Given the description of an element on the screen output the (x, y) to click on. 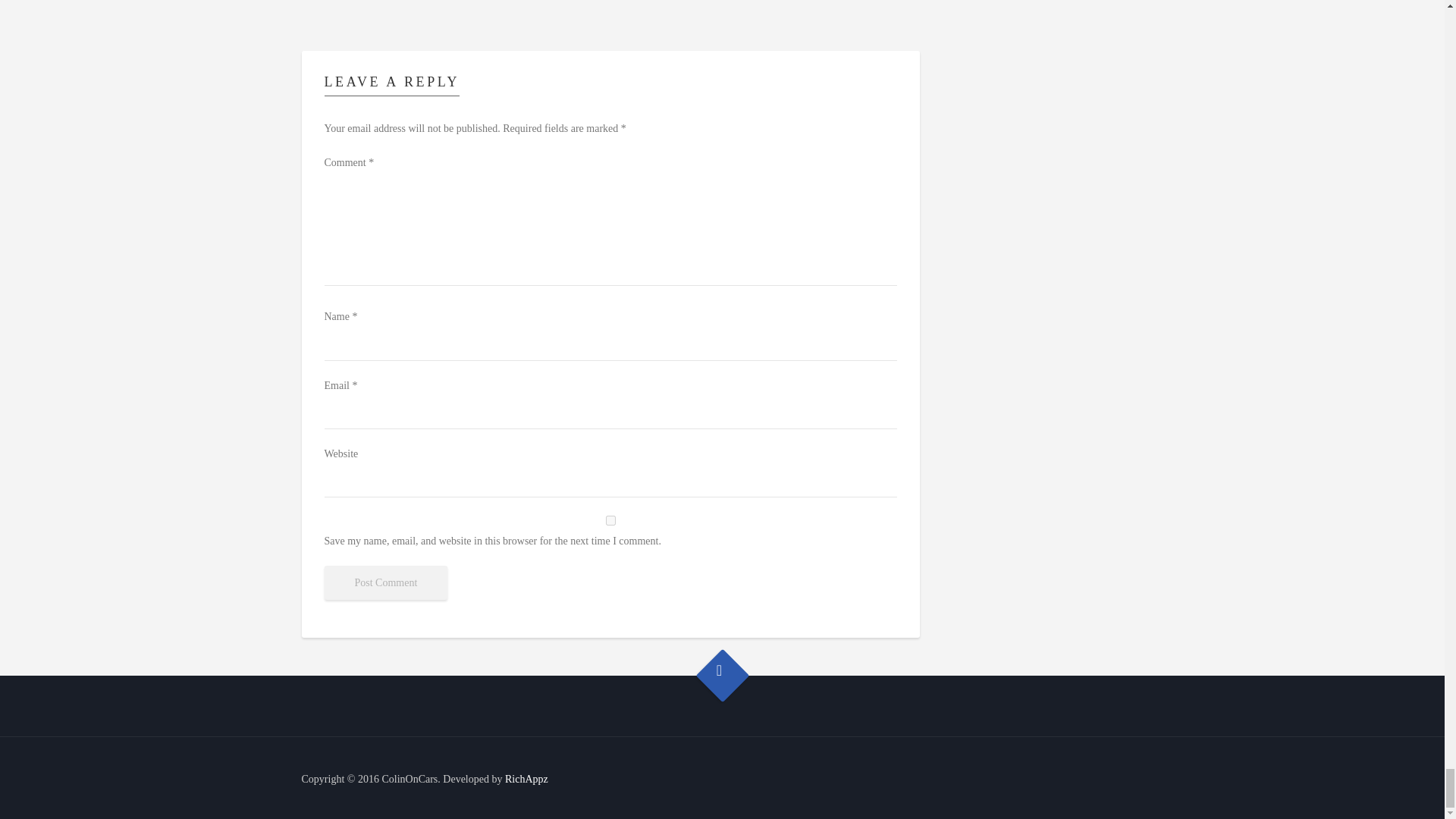
yes (610, 520)
Post Comment (386, 582)
